Given the description of an element on the screen output the (x, y) to click on. 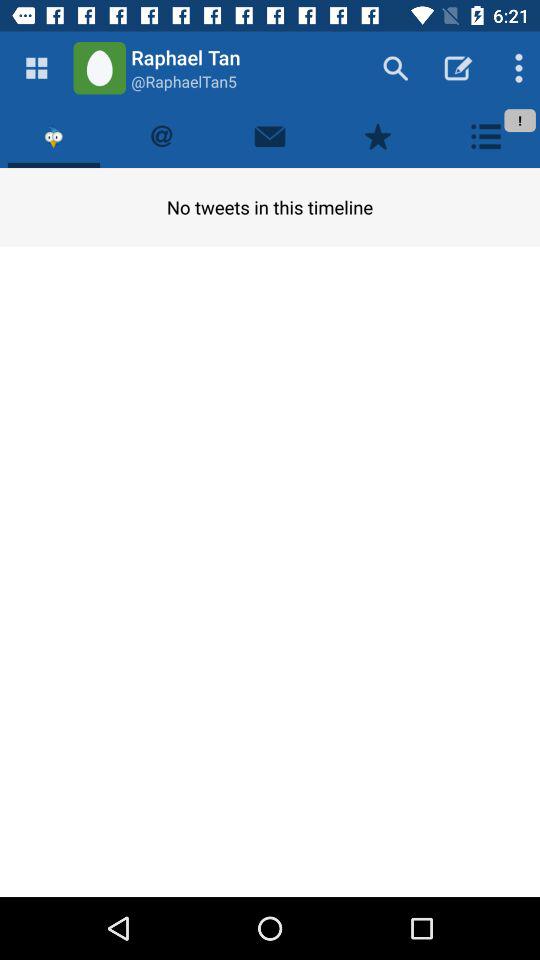
turn on item above the no tweets in item (270, 136)
